Given the description of an element on the screen output the (x, y) to click on. 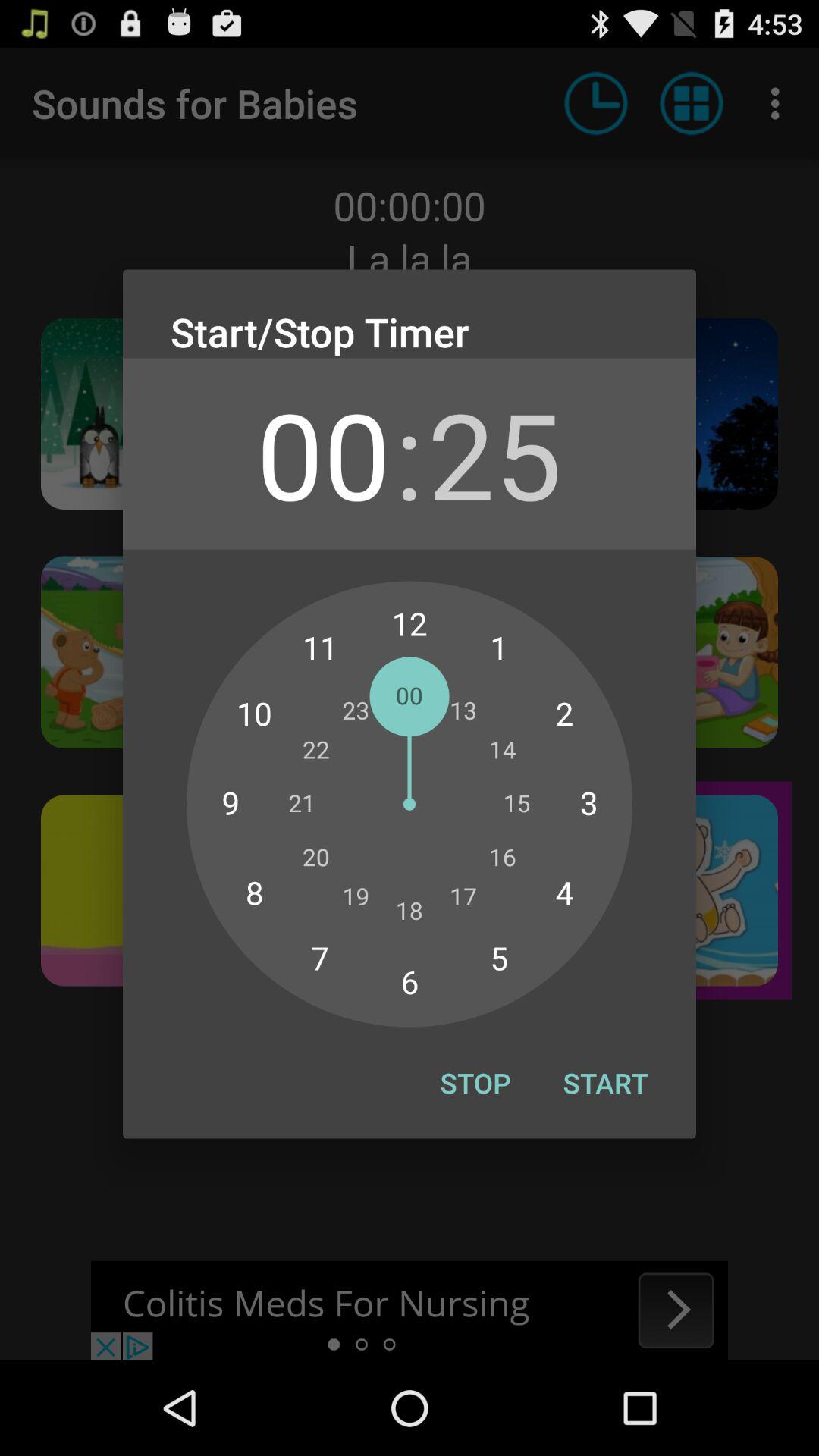
select the item below the start/stop timer item (323, 453)
